Given the description of an element on the screen output the (x, y) to click on. 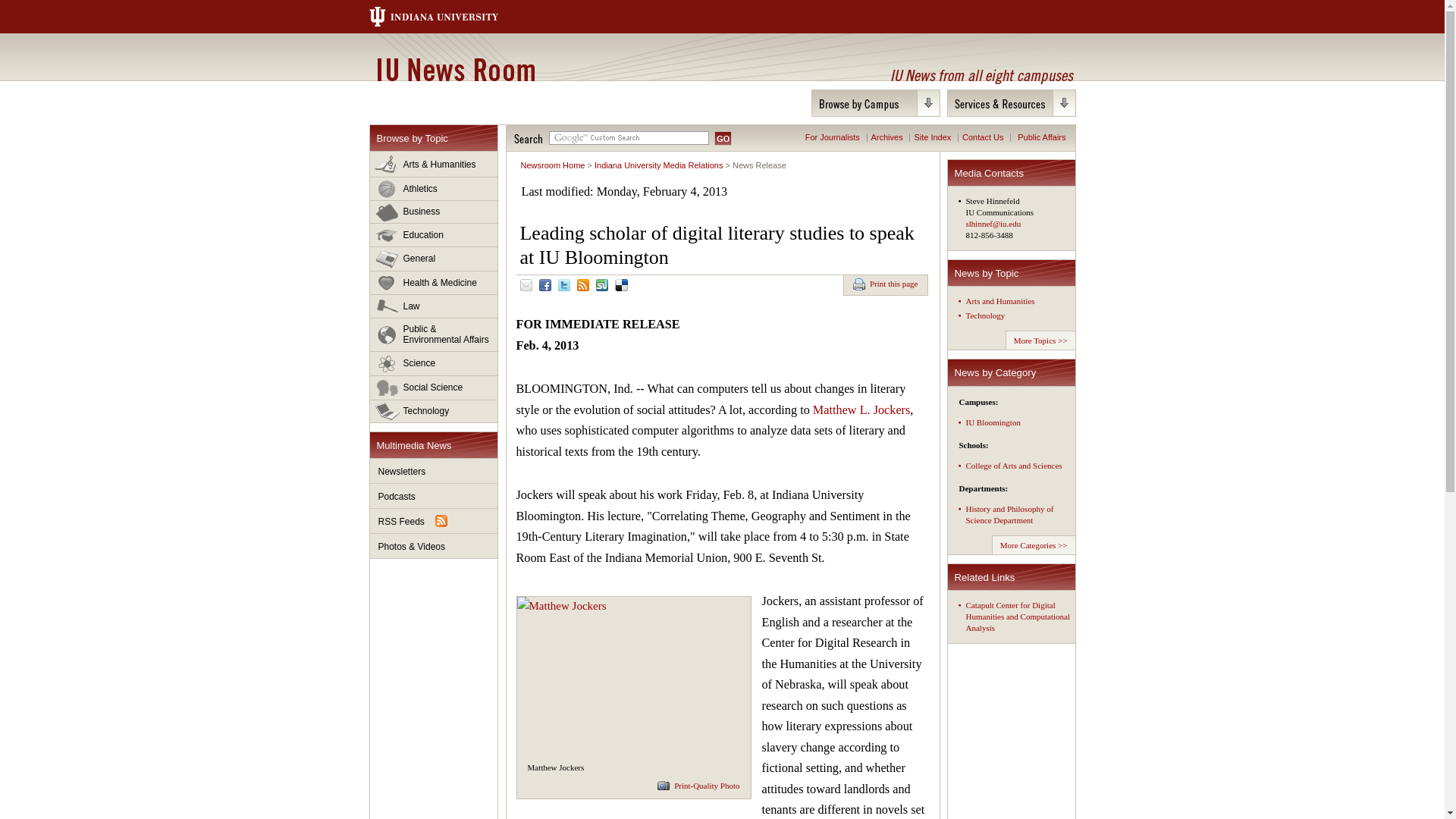
Podcasts (433, 496)
Education (433, 235)
Business (433, 211)
Athletics (433, 188)
Athletics (433, 188)
General (433, 259)
Business (433, 211)
Education (433, 235)
RSS Feeds (433, 520)
Newsletters (433, 471)
